Given the description of an element on the screen output the (x, y) to click on. 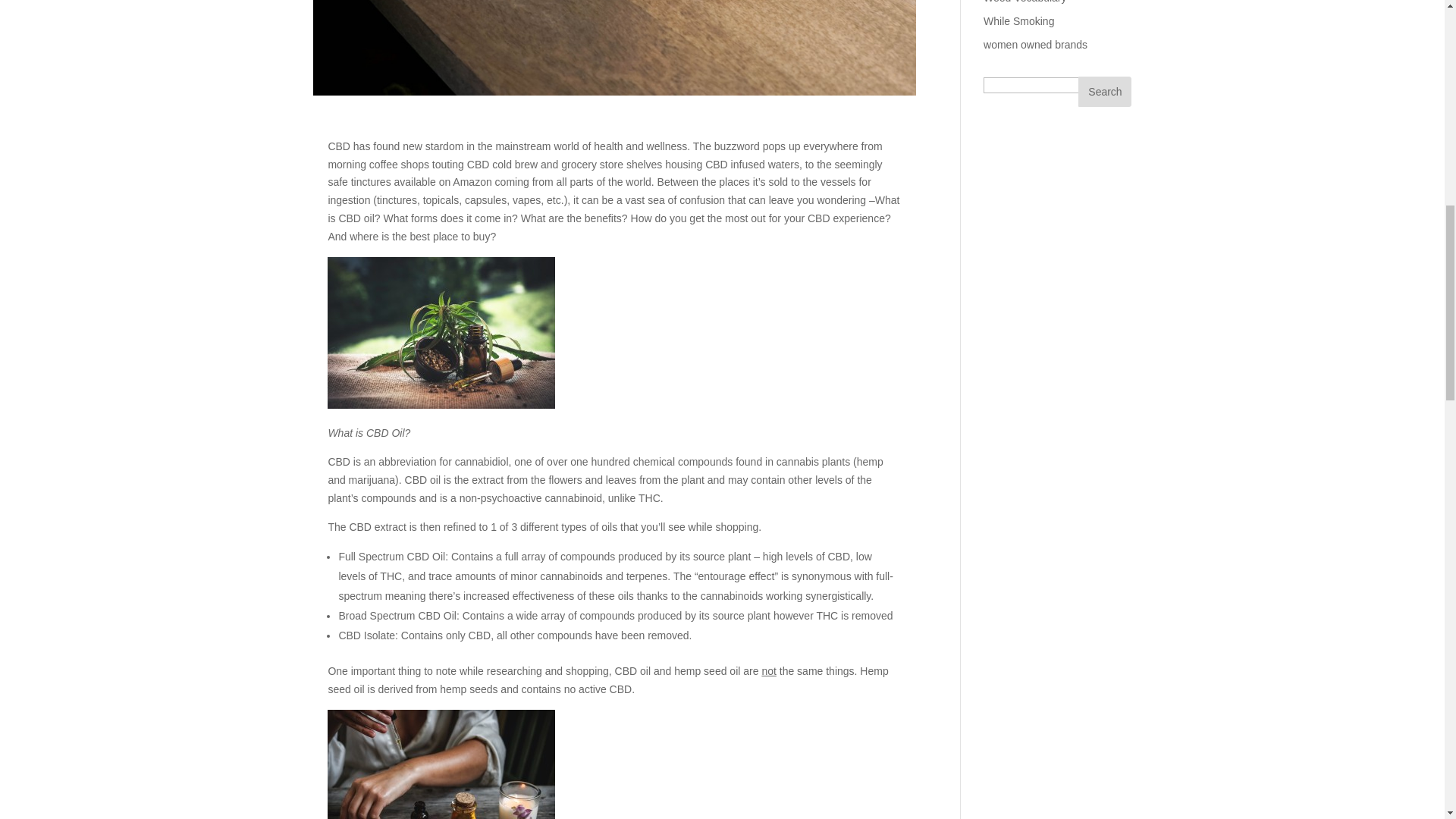
Search (1104, 91)
